Given the description of an element on the screen output the (x, y) to click on. 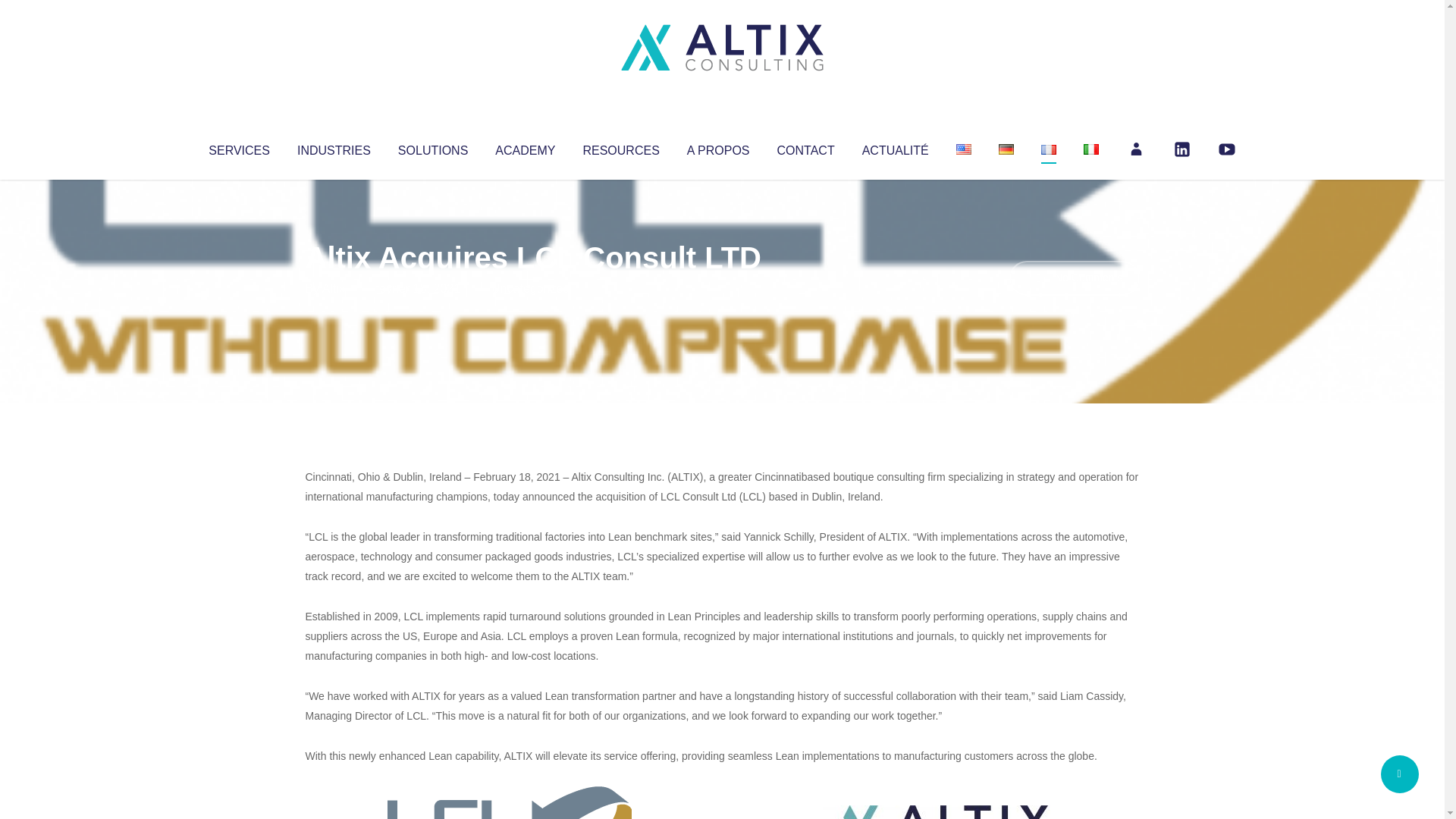
INDUSTRIES (334, 146)
RESOURCES (620, 146)
No Comments (1073, 278)
Uncategorized (530, 287)
SOLUTIONS (432, 146)
Articles par Altix (333, 287)
ACADEMY (524, 146)
Altix (333, 287)
SERVICES (238, 146)
A PROPOS (718, 146)
